Given the description of an element on the screen output the (x, y) to click on. 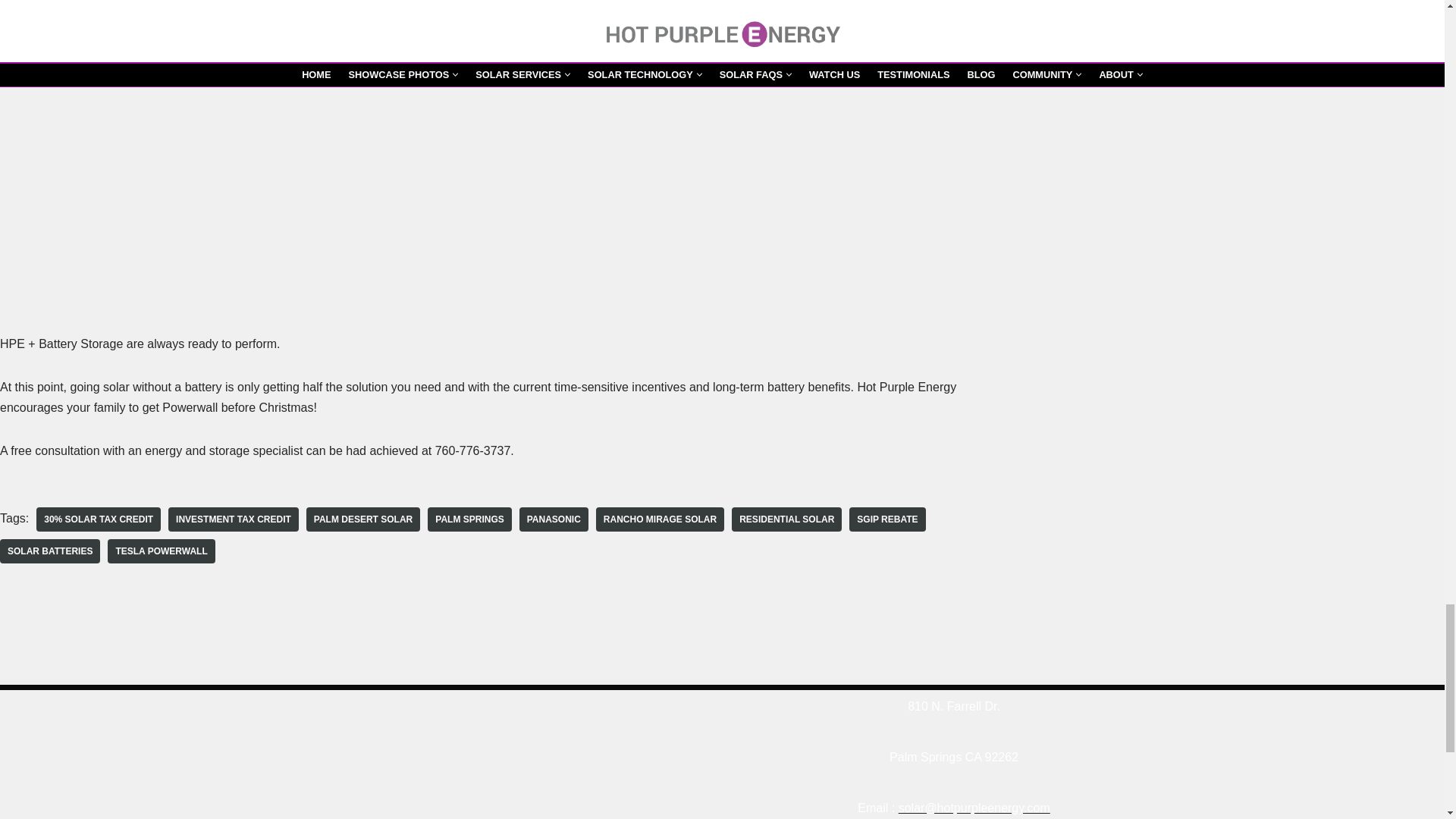
Palm Springs (469, 518)
Panasonic (553, 518)
rancho mirage solar (659, 518)
residential solar (786, 518)
palm desert solar (362, 518)
Investment Tax Credit (233, 518)
solar batteries (50, 550)
SGIP rebate (886, 518)
Tesla Powerwall (160, 550)
